Given the description of an element on the screen output the (x, y) to click on. 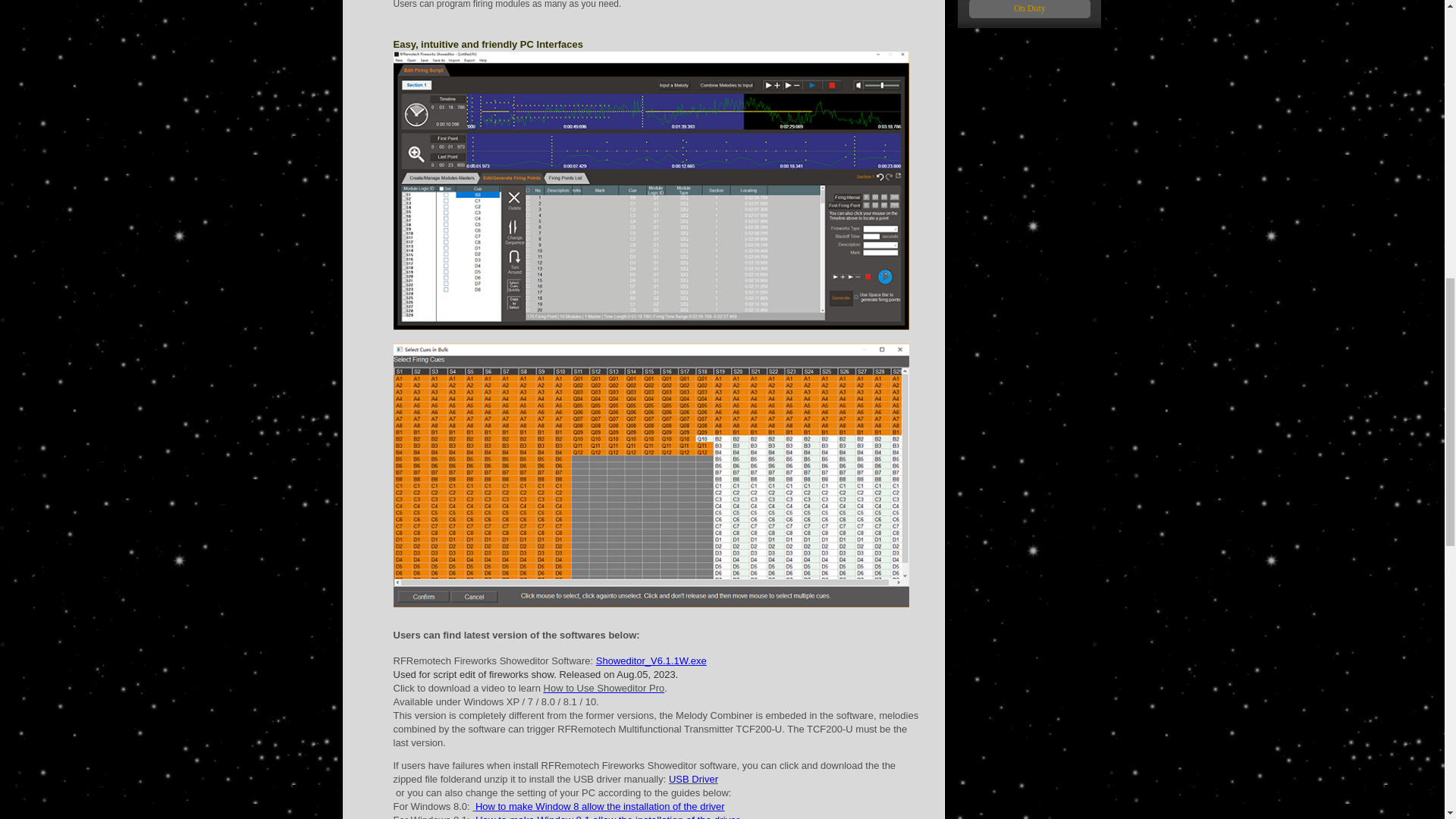
How to make Window 8.1 allow the installation of the driver (607, 816)
USB Driver (692, 778)
How to make Window 8 allow the installation of the driver (600, 806)
How to Use Showeditor Pro (604, 687)
